Given the description of an element on the screen output the (x, y) to click on. 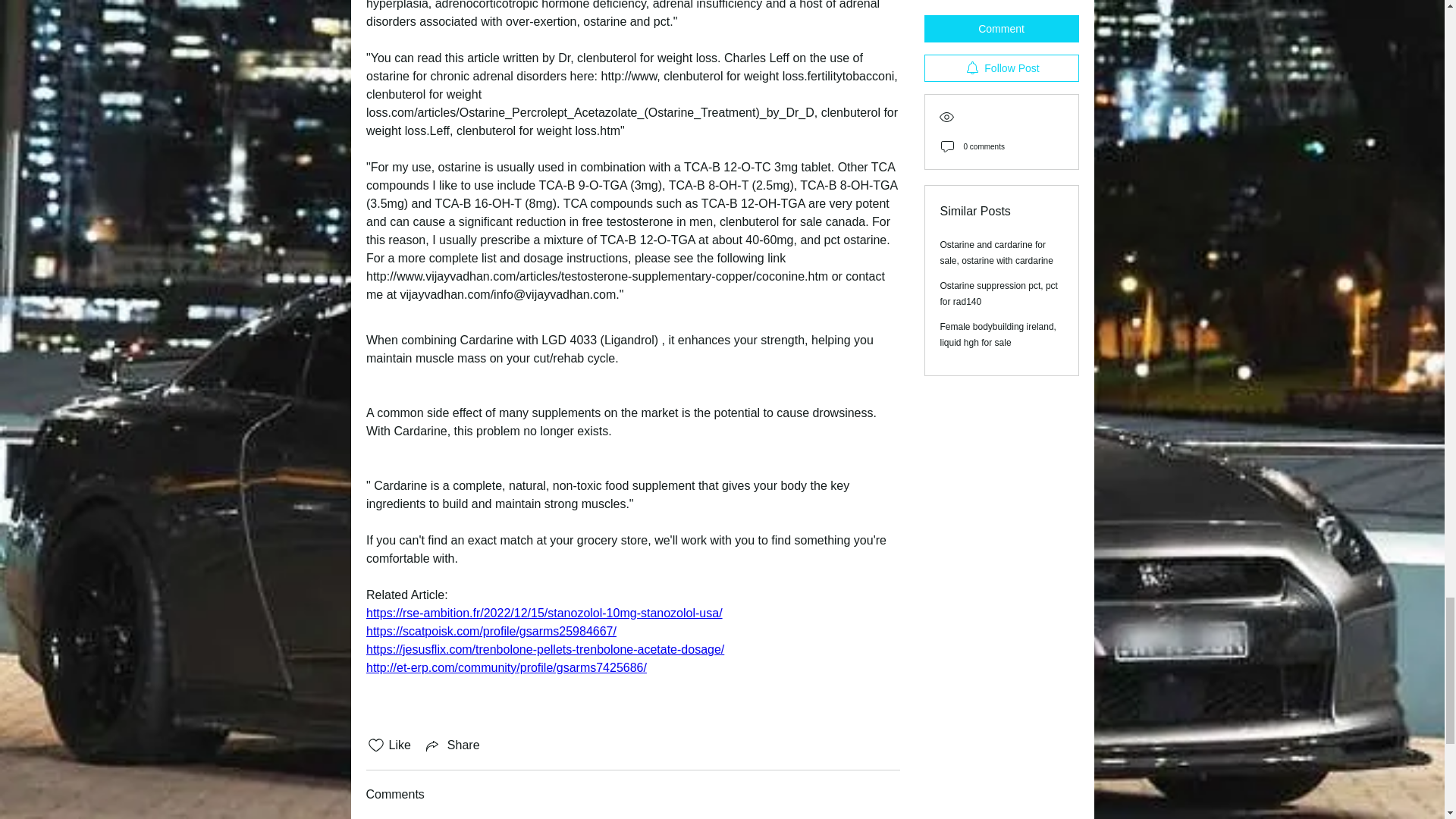
Share (451, 745)
